Given the description of an element on the screen output the (x, y) to click on. 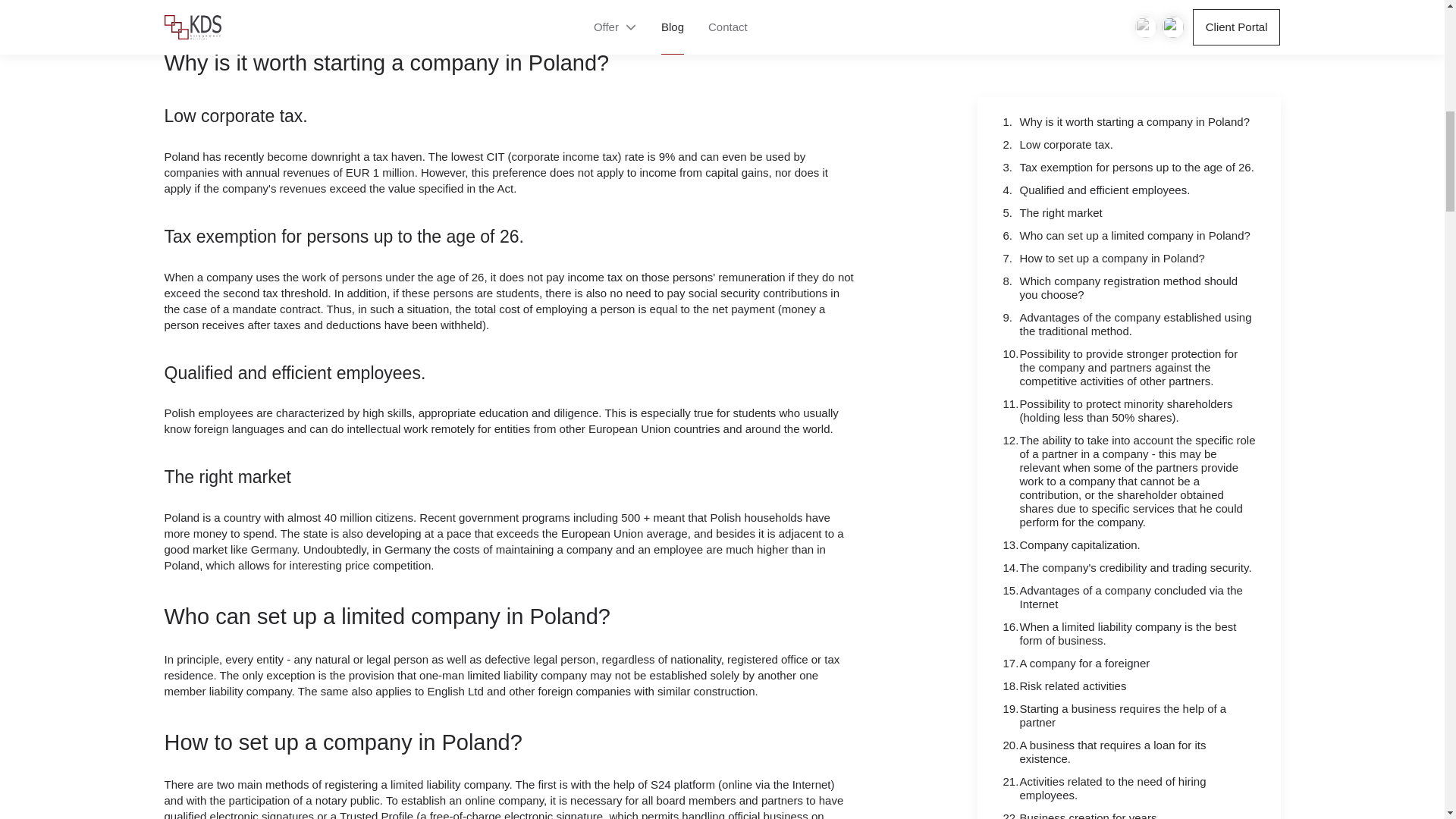
Starting a business requires the help of a partner (1115, 637)
Company capitalization. (1115, 468)
A business that requires a loan for its existence. (1115, 674)
How to set up a company in Poland? (1115, 181)
The right market (1115, 135)
The company's credibility and trading security. (1115, 490)
